Given the description of an element on the screen output the (x, y) to click on. 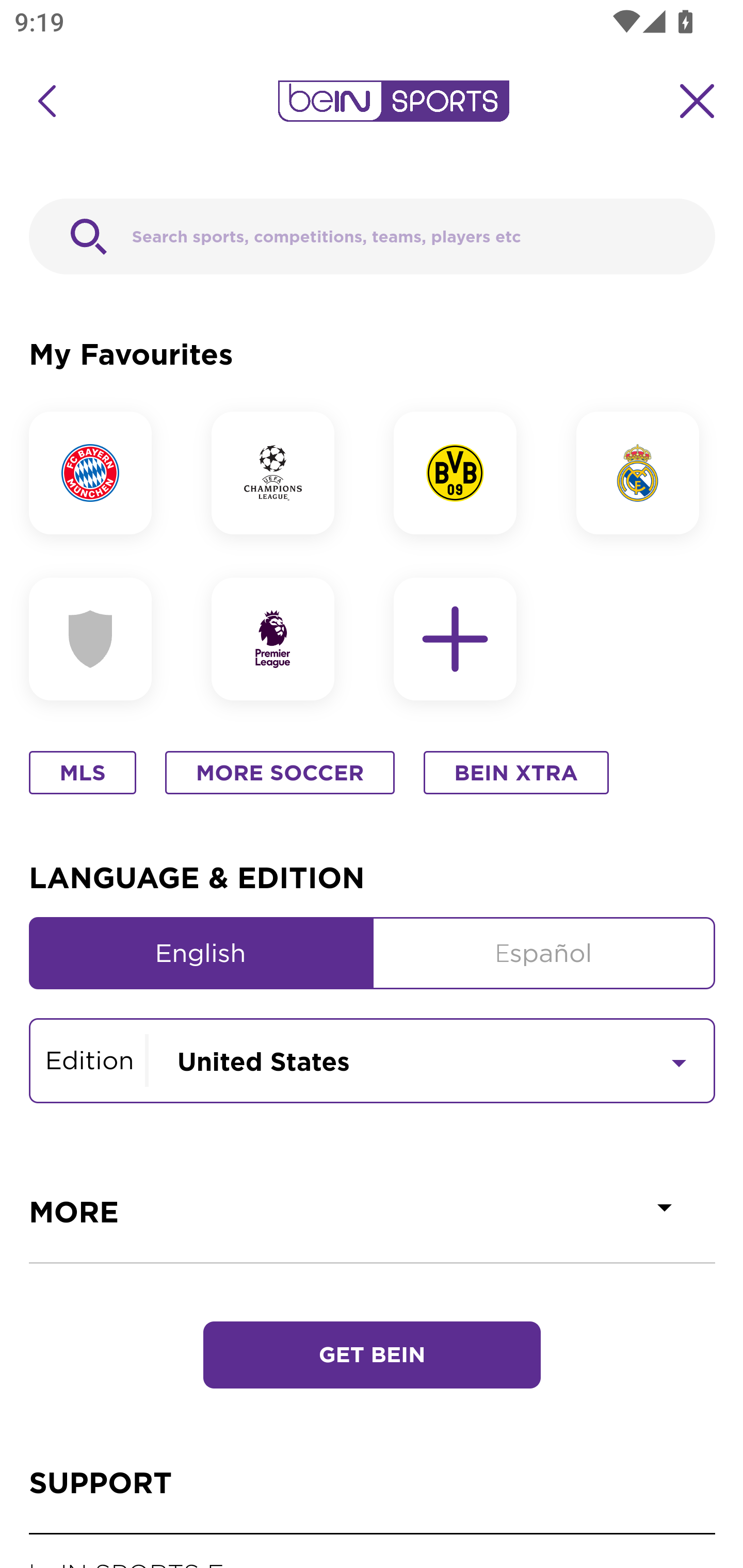
en-us?platform=mobile_android bein logo (392, 101)
icon back (46, 101)
Close Menu Icon (697, 101)
MLS (82, 773)
MORE SOCCER (279, 773)
BEIN XTRA (516, 773)
English (200, 953)
Еspañol (544, 953)
United States (430, 1058)
MORE (372, 1211)
GET BEIN (371, 1355)
